Given the description of an element on the screen output the (x, y) to click on. 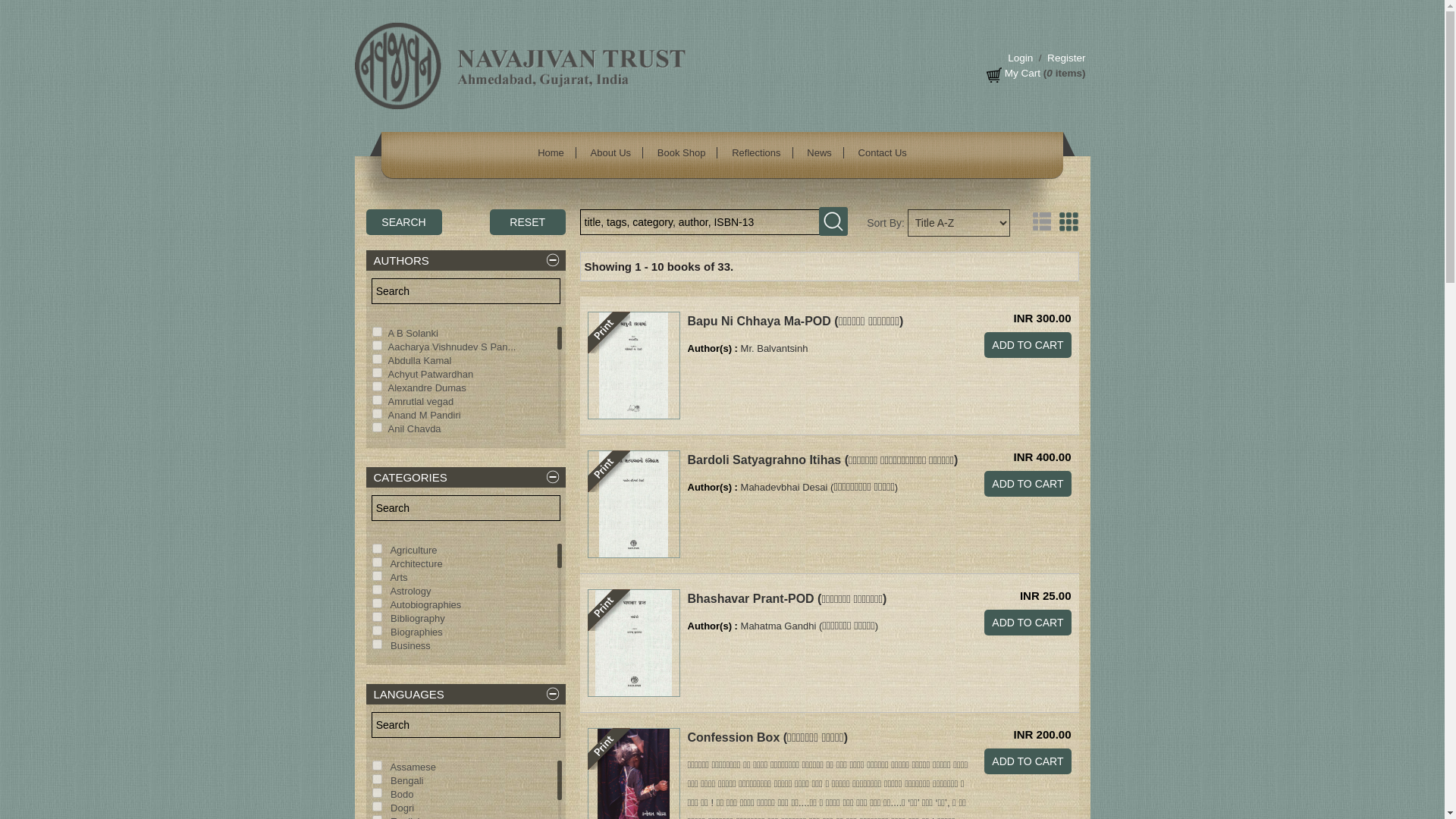
Alexandre Dumas (426, 387)
2c8182ed4c8d2fa301516cd0a8500f48 (376, 616)
Reflections (756, 152)
About Us (611, 152)
2c8182ed48cb466c0148cb46d5160051 (376, 644)
2c8182ed48e5d2b70148ef2c5dc9003e (376, 603)
2c8182ed7eaea5f0017f8707517a04cf (376, 427)
Search (403, 222)
2c8182ed48cb466c0148cb46d5060050 (376, 589)
Register (1065, 57)
My Cart (1022, 72)
News (819, 152)
2c8182ed4ac32130014b345168c0032e (376, 548)
A B Solanki (413, 333)
2c8182ed7eaea5f0017f68594cf9043b (376, 562)
